Given the description of an element on the screen output the (x, y) to click on. 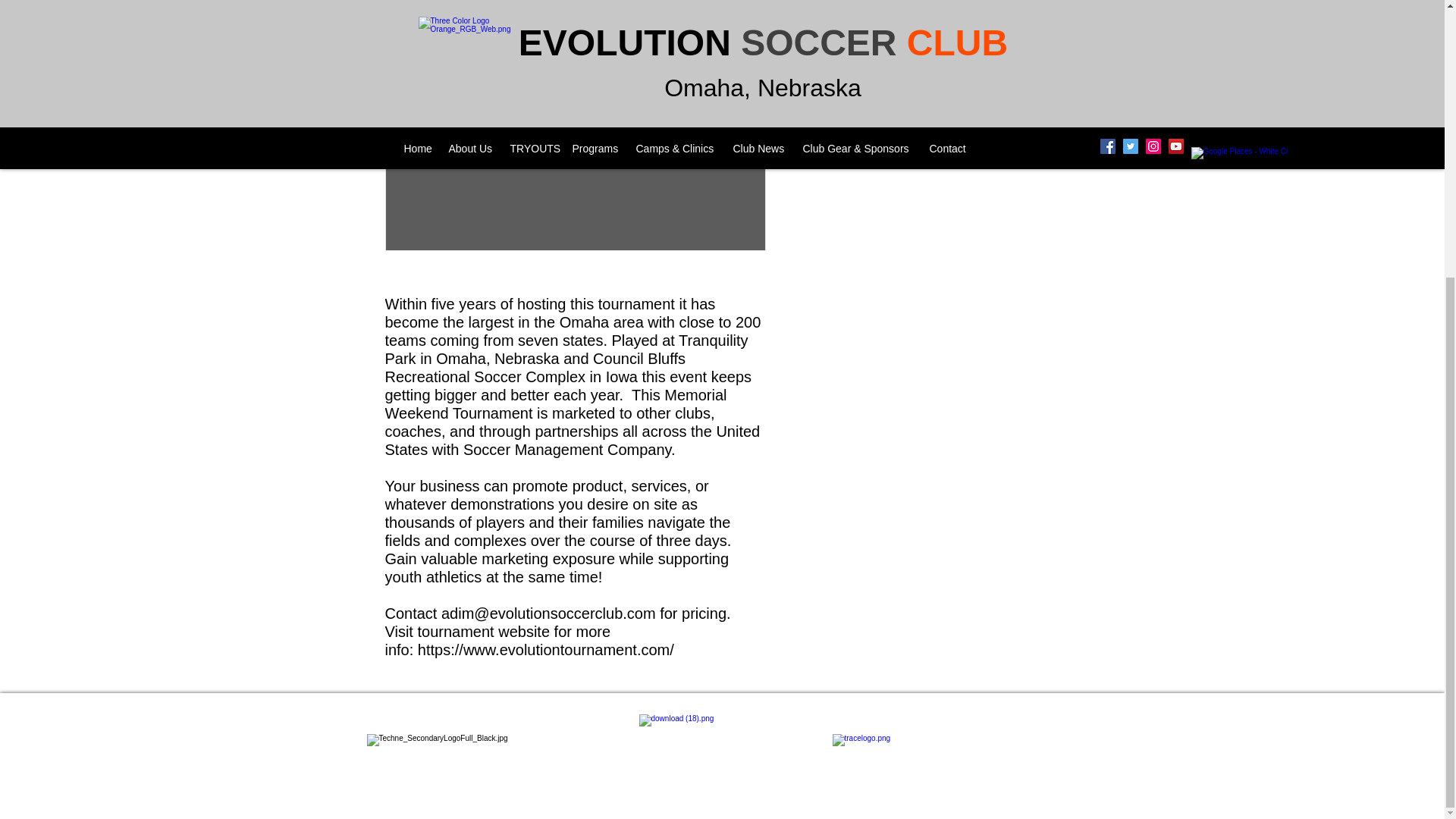
New Balance.png (733, 745)
Contact Us to Purchase (924, 28)
